Given the description of an element on the screen output the (x, y) to click on. 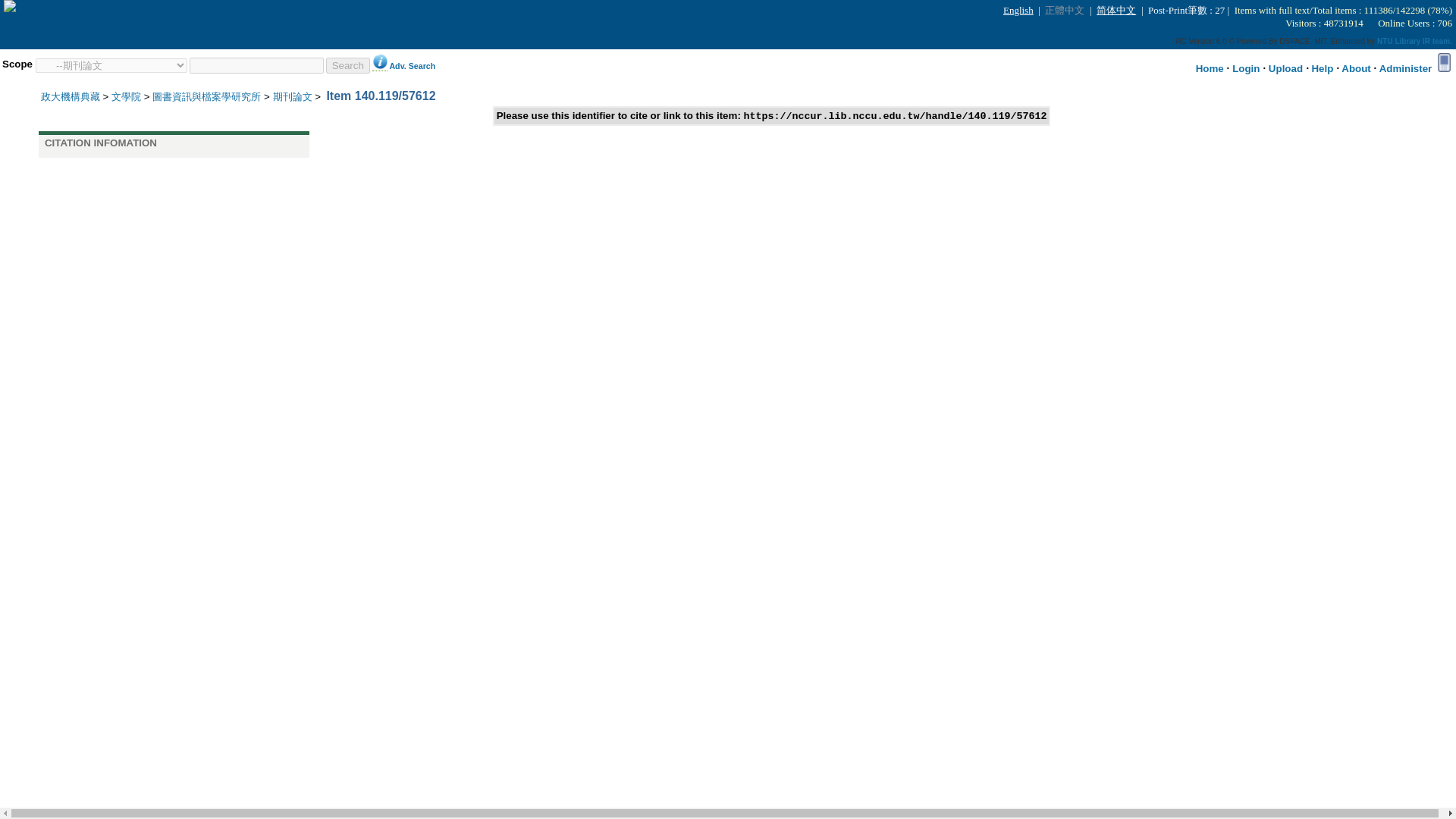
Search (347, 65)
Upload (1285, 67)
Goto mobile version (1443, 62)
Home (1209, 67)
Help (1322, 67)
About (1355, 67)
NTU Library IR team. (1414, 40)
Search (347, 65)
English (1019, 9)
Login (1245, 67)
Adv. Search (411, 64)
Administer (1405, 67)
